Given the description of an element on the screen output the (x, y) to click on. 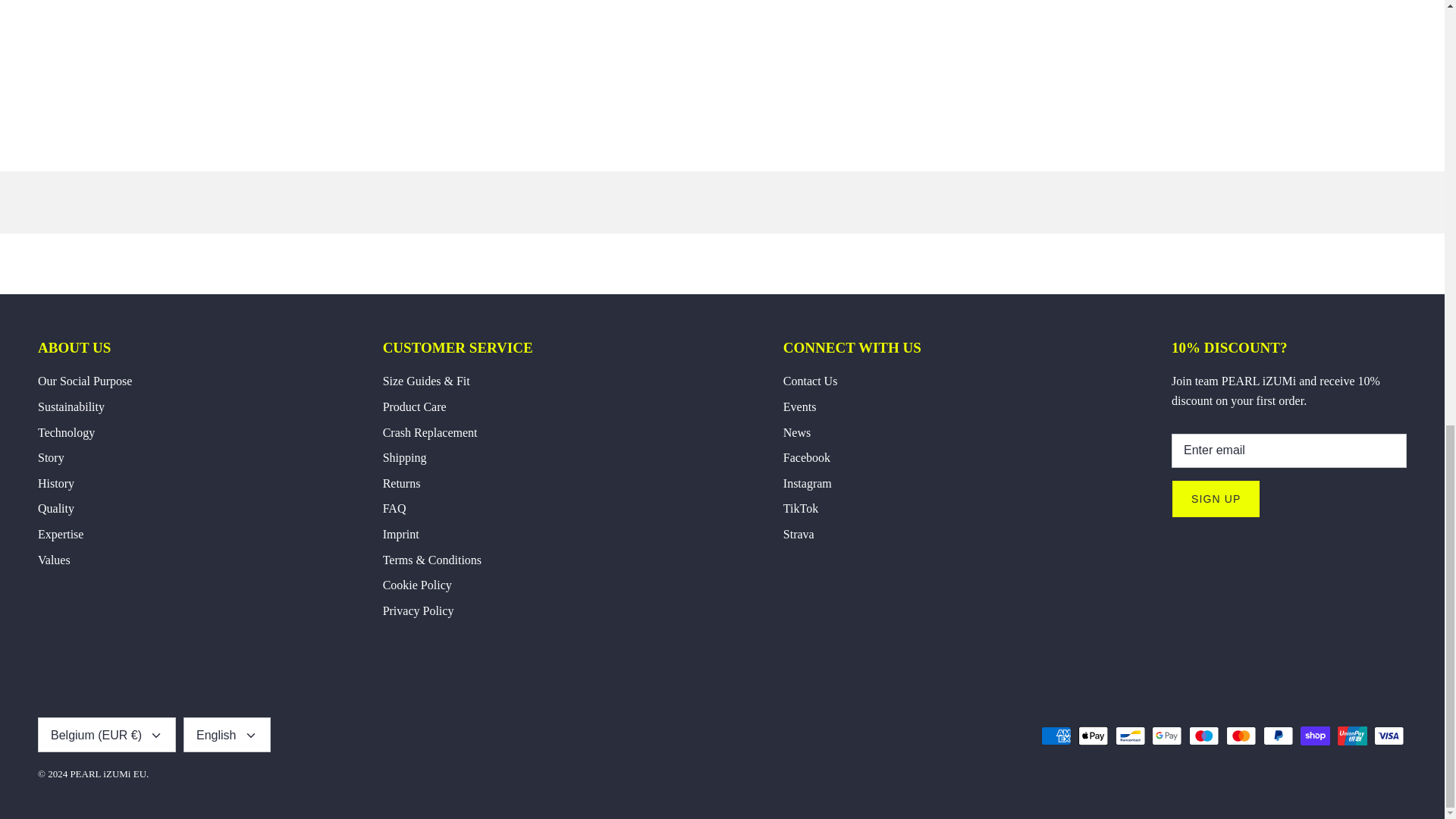
Google Pay (1166, 735)
Down (250, 735)
Apple Pay (1093, 735)
PayPal (1277, 735)
American Express (1056, 735)
Visa (1388, 735)
Bancontact (1130, 735)
Mastercard (1240, 735)
Down (156, 735)
Shop Pay (1315, 735)
Maestro (1203, 735)
Union Pay (1352, 735)
